Given the description of an element on the screen output the (x, y) to click on. 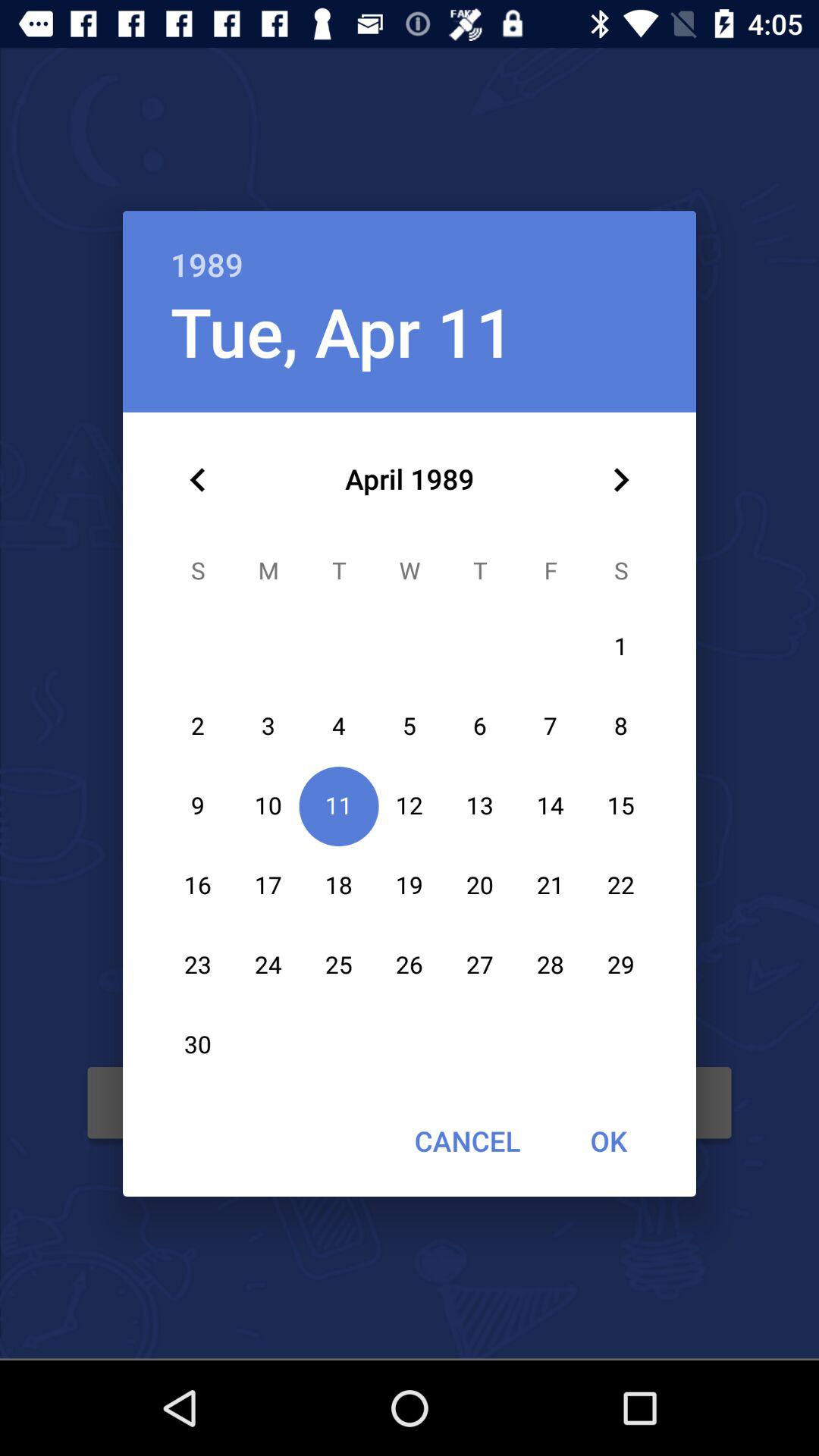
scroll until the tue, apr 11 icon (342, 331)
